Given the description of an element on the screen output the (x, y) to click on. 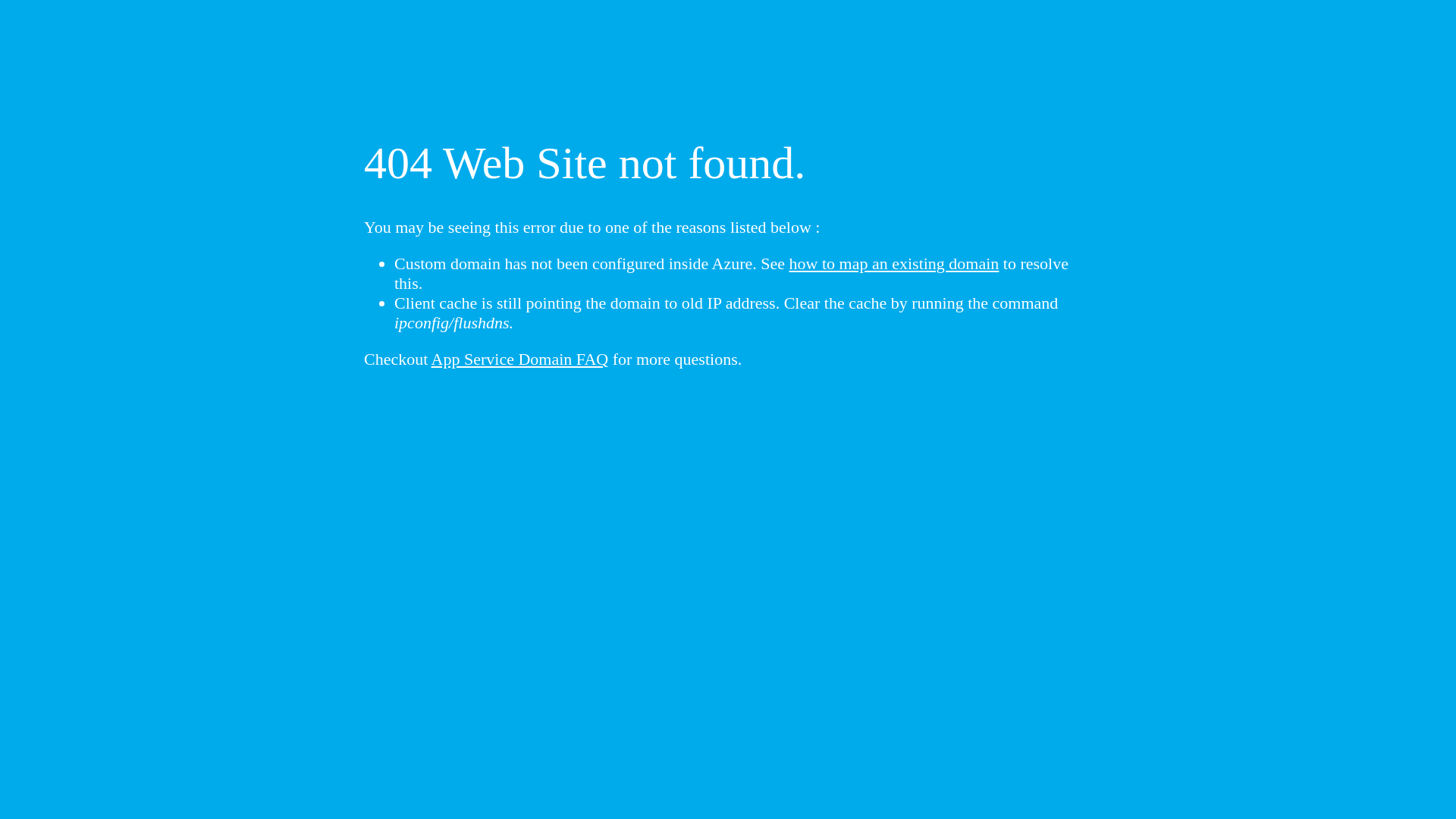
how to map an existing domain Element type: text (894, 263)
App Service Domain FAQ Element type: text (519, 358)
